Given the description of an element on the screen output the (x, y) to click on. 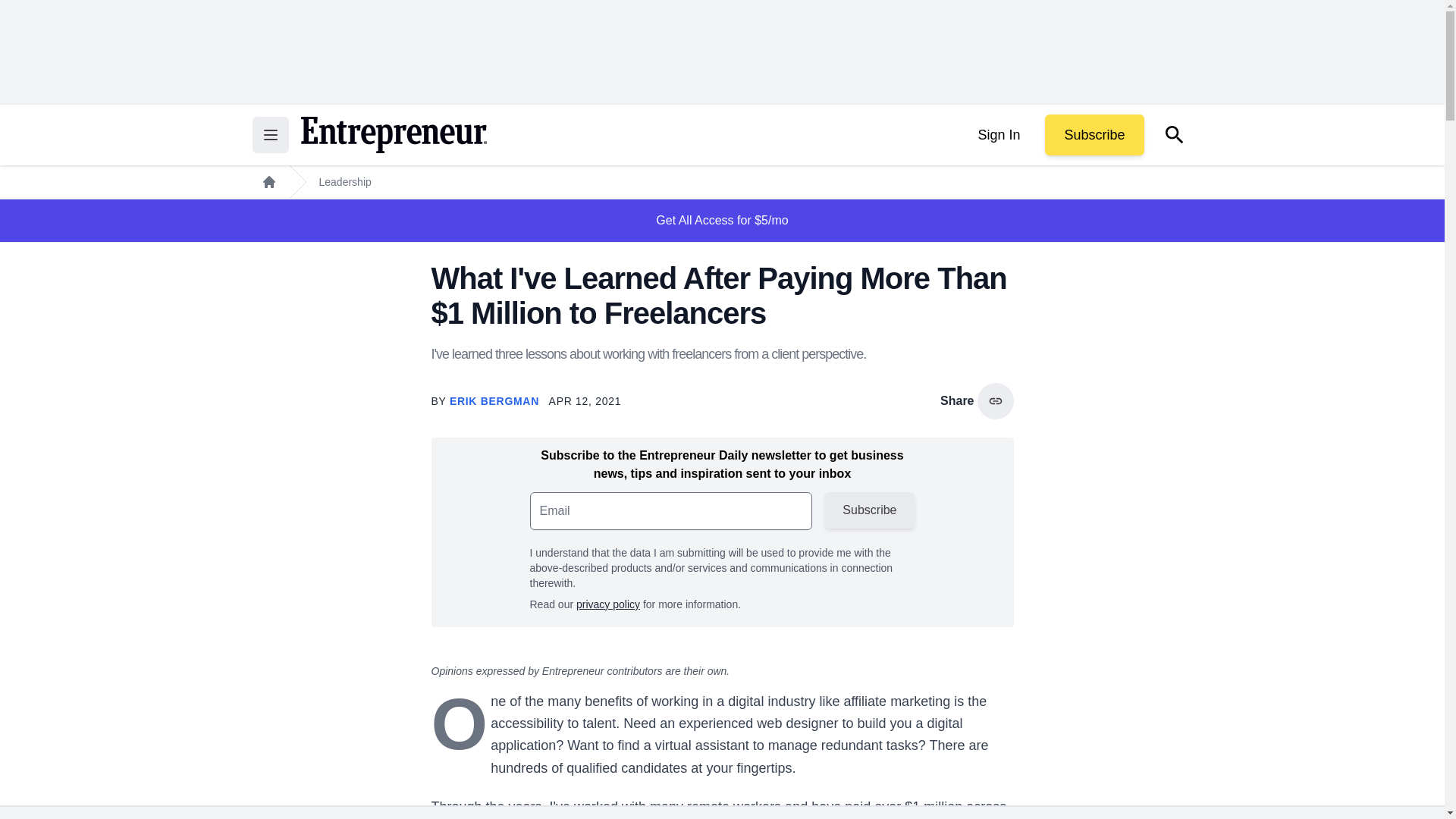
Return to the home page (392, 135)
Sign In (998, 134)
copy (994, 401)
Subscribe (1093, 134)
